Given the description of an element on the screen output the (x, y) to click on. 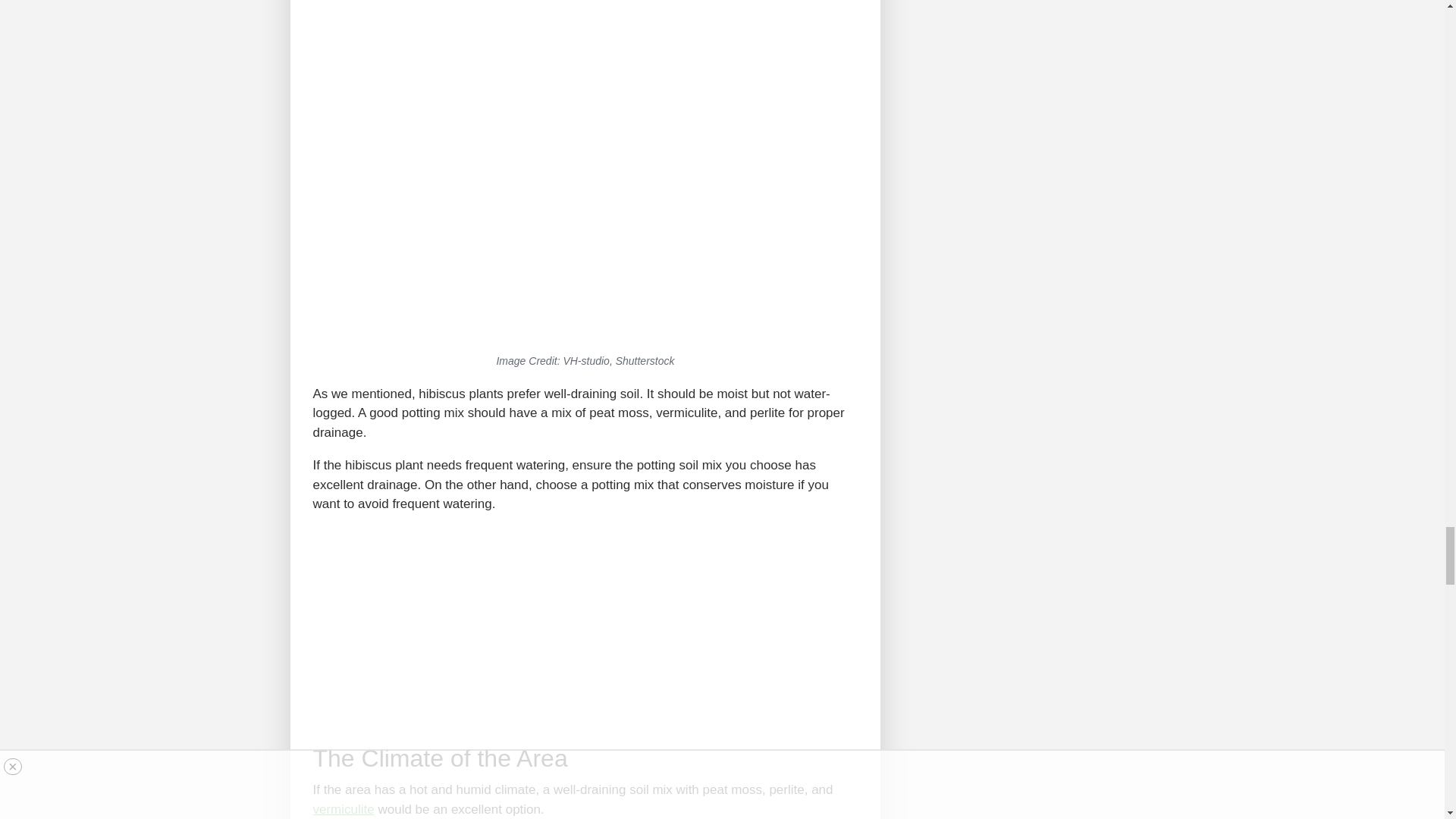
vermiculite (343, 809)
